Given the description of an element on the screen output the (x, y) to click on. 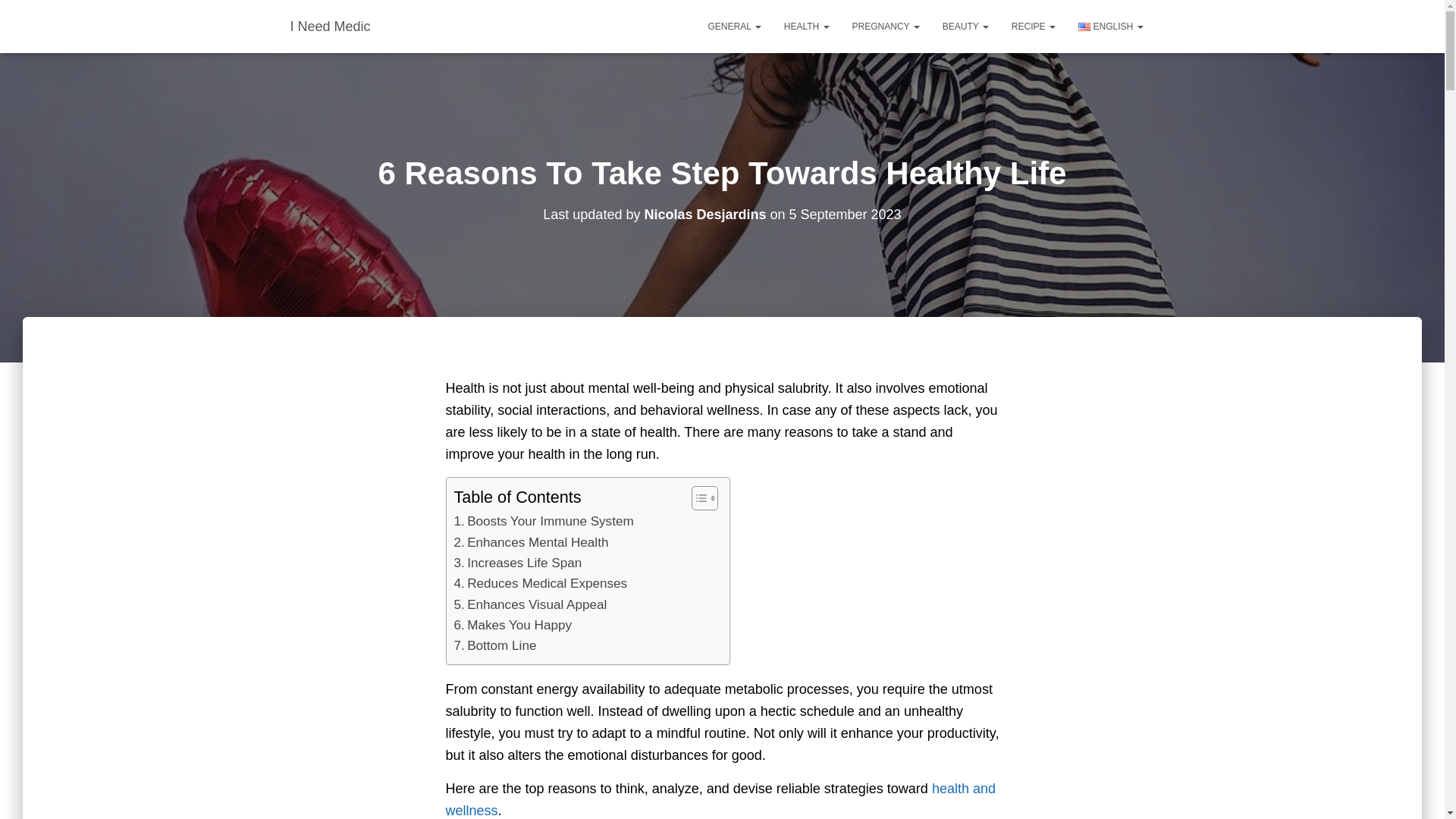
BEAUTY (965, 26)
Makes You Happy (511, 625)
Enhances Mental Health (530, 542)
Beauty (965, 26)
I Need Medic (330, 26)
RECIPE (1033, 26)
Bottom Line (493, 645)
I Need Medic (330, 26)
Boosts Your Immune System (542, 521)
ENGLISH (1110, 26)
Pregnancy (886, 26)
Increases Life Span (516, 562)
General (735, 26)
Reduces Medical Expenses (539, 583)
Nicolas Desjardins (704, 214)
